Given the description of an element on the screen output the (x, y) to click on. 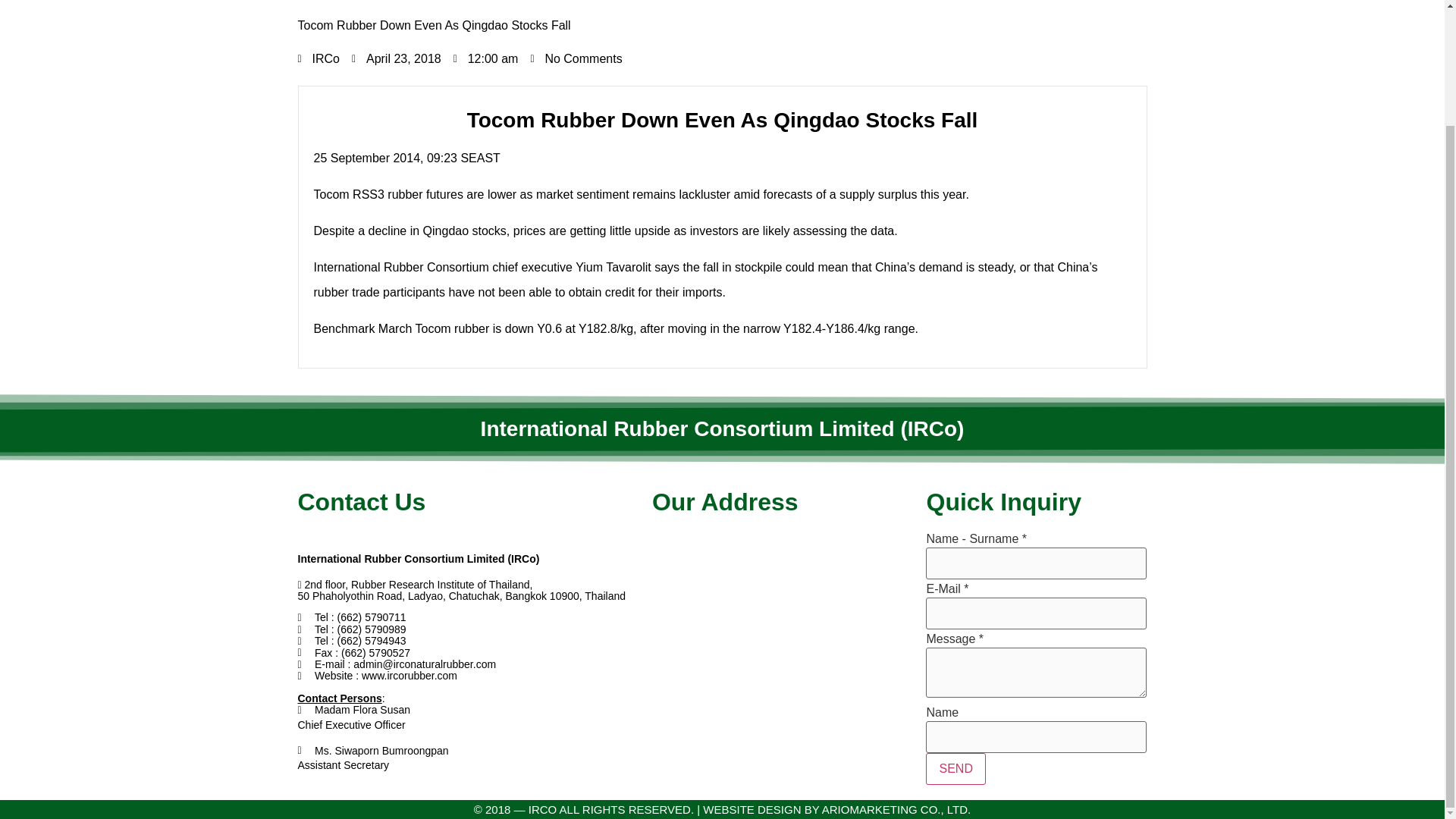
Tocom Rubber Down Even As Qingdao Stocks Fall (722, 25)
SEND (955, 768)
ARIOMARKETING CO., LTD. (896, 809)
